Given the description of an element on the screen output the (x, y) to click on. 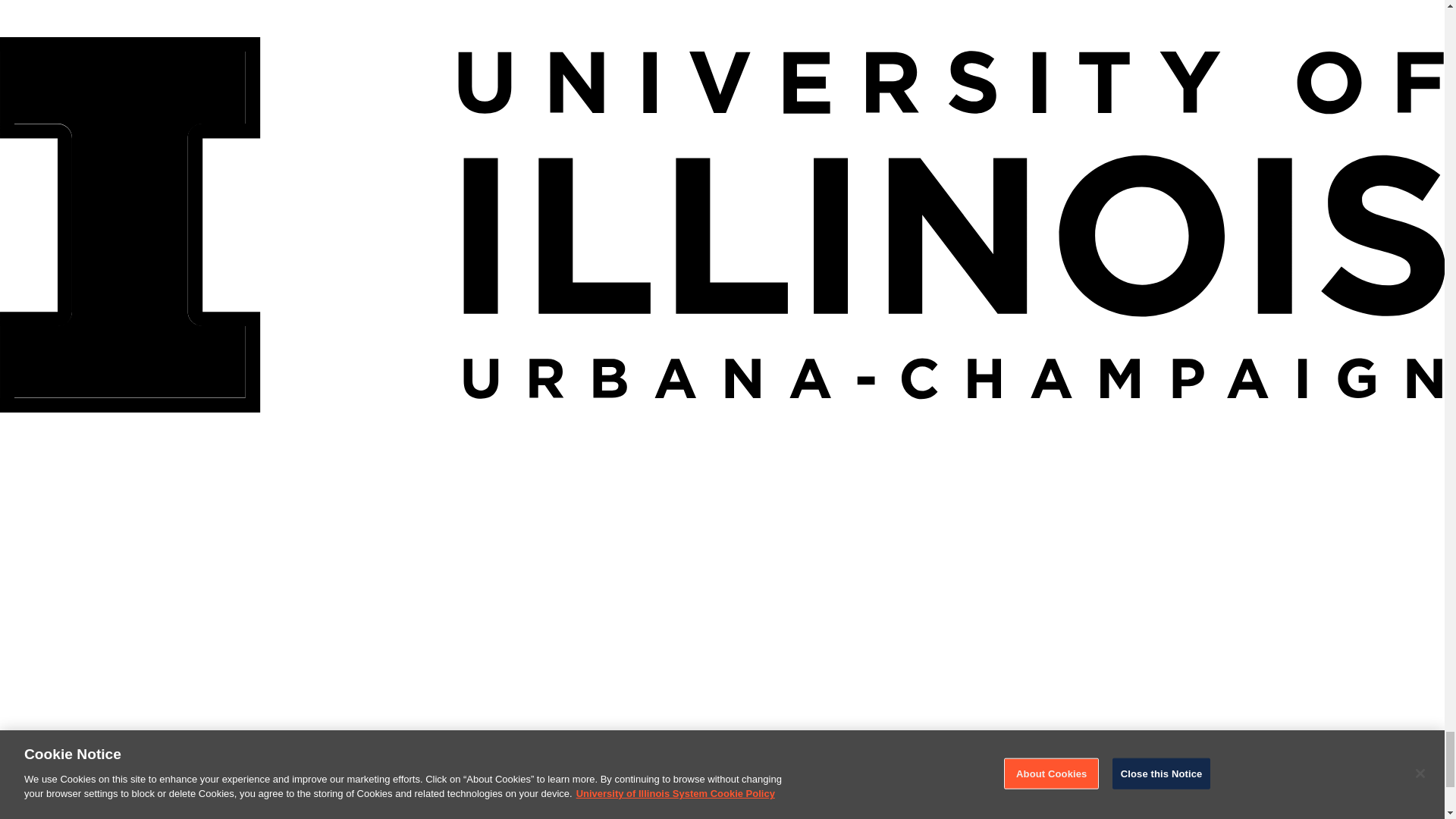
Illinois Extension (74, 429)
